Given the description of an element on the screen output the (x, y) to click on. 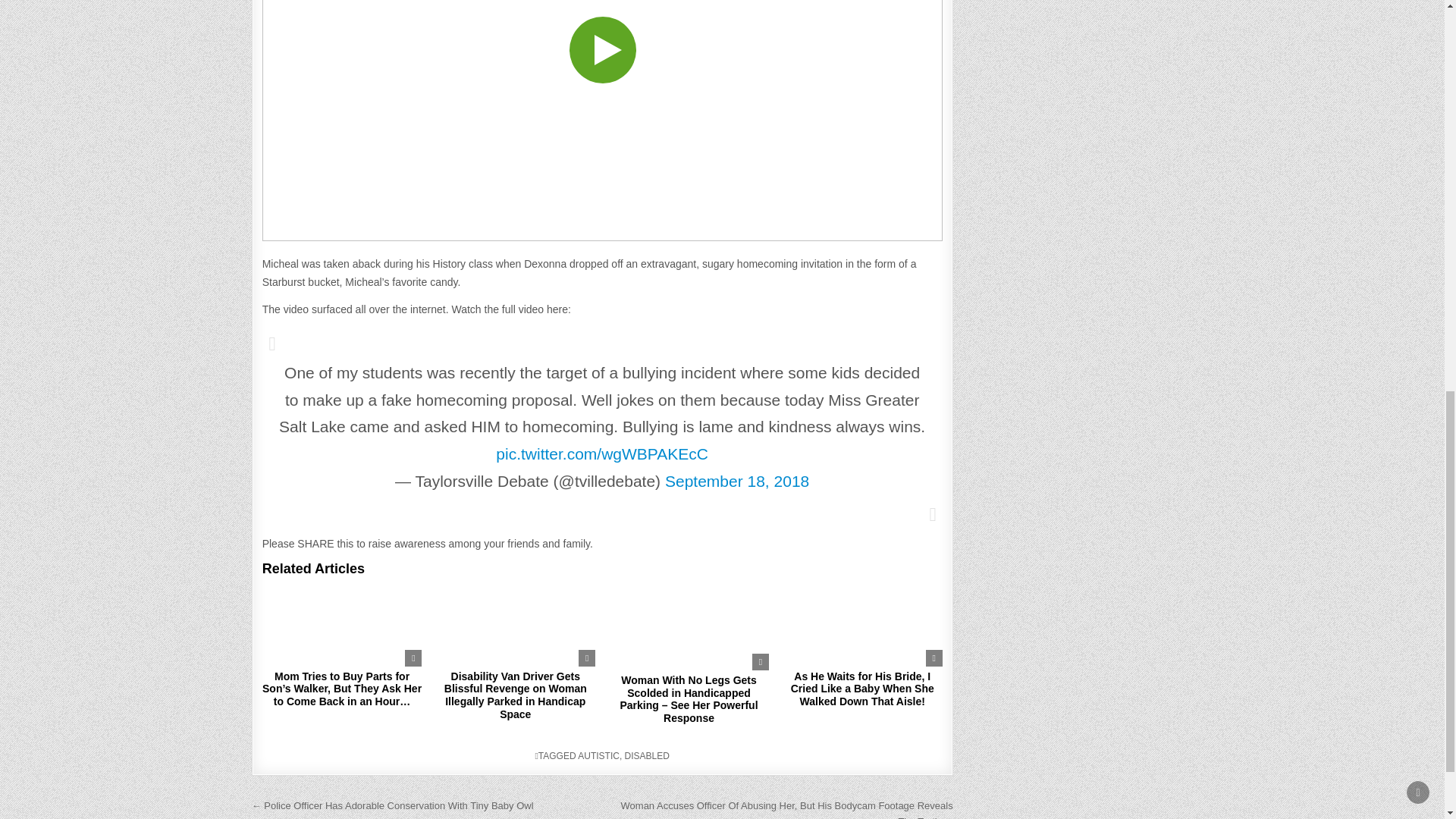
603 Views (579, 594)
September 18, 2018 (737, 480)
578 Views (404, 594)
